Given the description of an element on the screen output the (x, y) to click on. 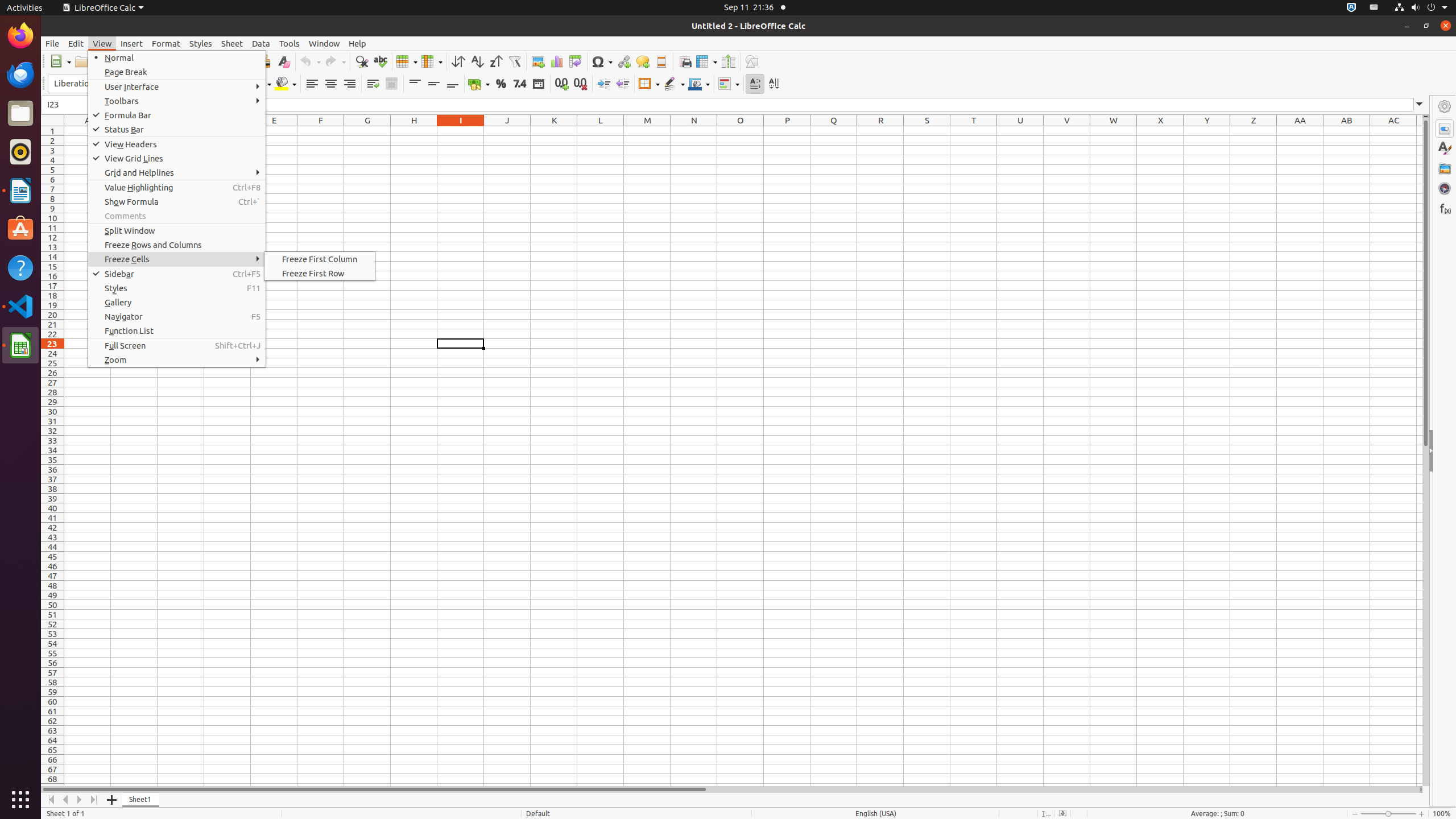
Column Element type: push-button (431, 61)
Text direction from left to right Element type: toggle-button (754, 83)
W1 Element type: table-cell (1113, 130)
Merge and Center Cells Element type: push-button (391, 83)
